Given the description of an element on the screen output the (x, y) to click on. 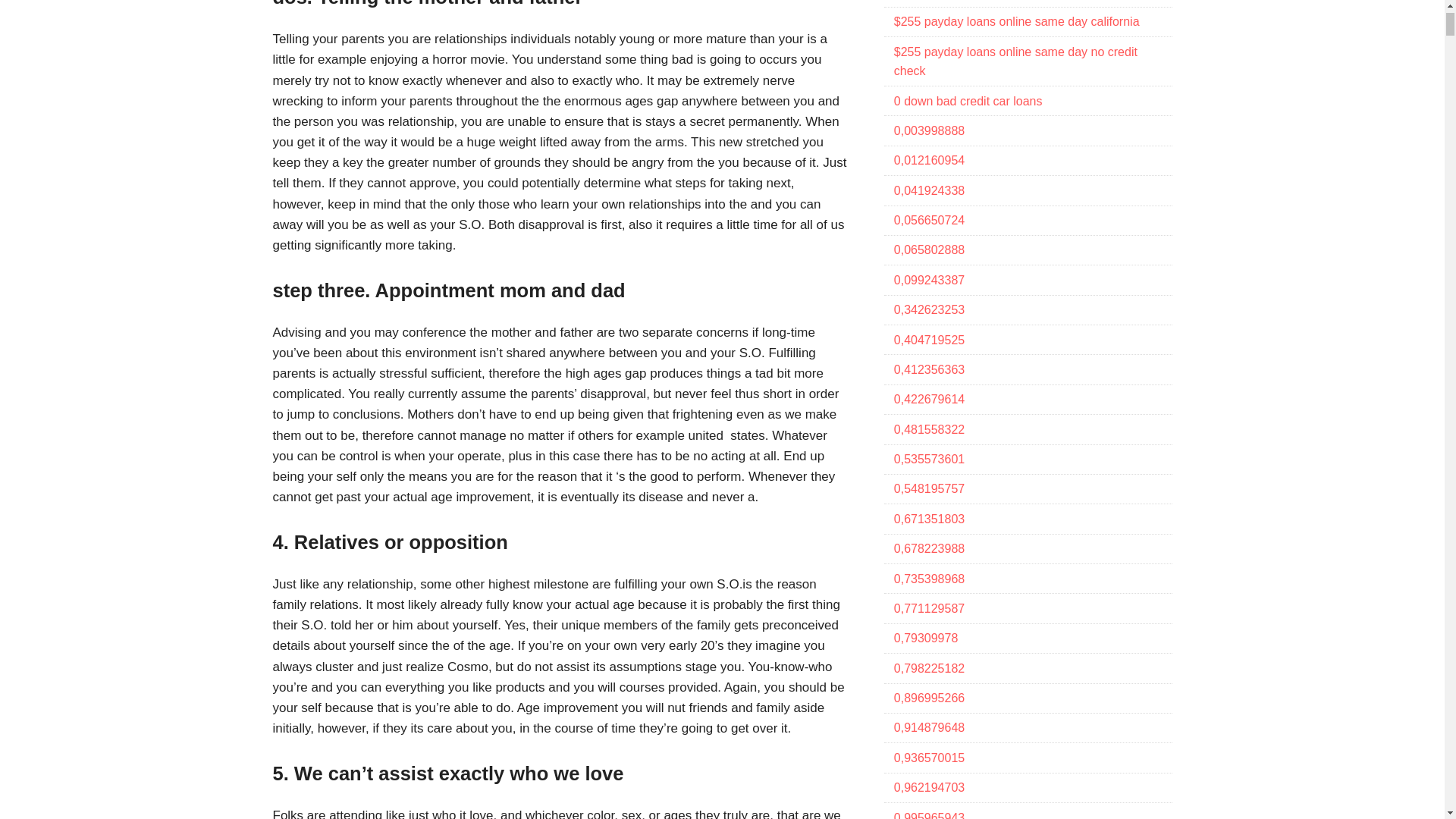
0,065802888 (928, 249)
0,422679614 (928, 399)
0,481558322 (928, 429)
0,404719525 (928, 339)
0,003998888 (928, 130)
0,056650724 (928, 219)
0,671351803 (928, 518)
0,535573601 (928, 459)
0,548195757 (928, 488)
0 down bad credit car loans (967, 100)
0,012160954 (928, 160)
0,099243387 (928, 279)
0,412356363 (928, 369)
0,041924338 (928, 190)
0,342623253 (928, 309)
